Given the description of an element on the screen output the (x, y) to click on. 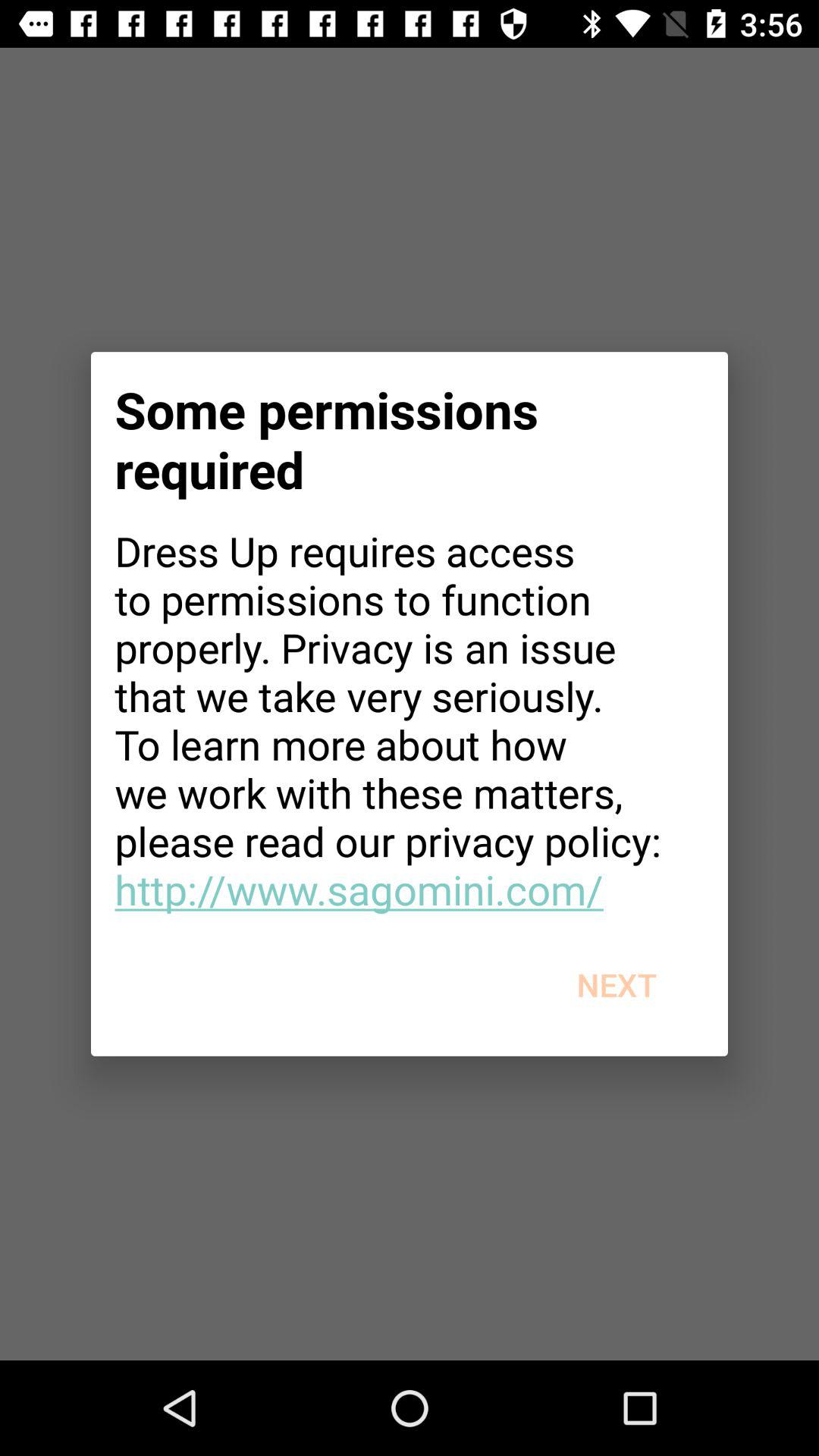
turn on the app below the dress up requires item (616, 984)
